Given the description of an element on the screen output the (x, y) to click on. 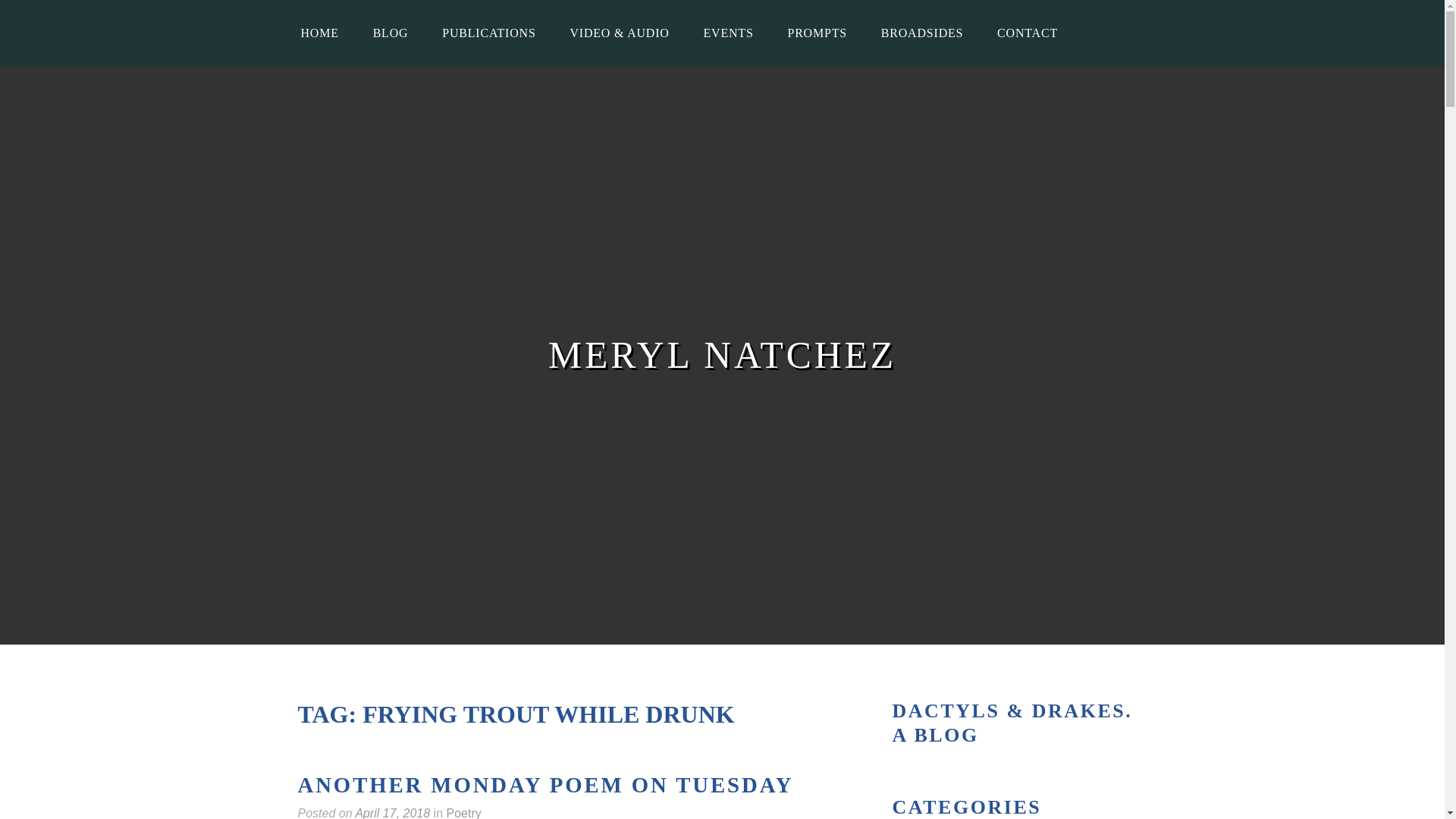
BLOG (390, 33)
BROADSIDES (922, 33)
April 17, 2018 (392, 812)
EVENTS (728, 33)
Poetry (462, 812)
MERYL NATCHEZ (722, 354)
PUBLICATIONS (488, 33)
CONTACT (1027, 33)
HOME (319, 33)
ANOTHER MONDAY POEM ON TUESDAY (545, 785)
PROMPTS (816, 33)
